Given the description of an element on the screen output the (x, y) to click on. 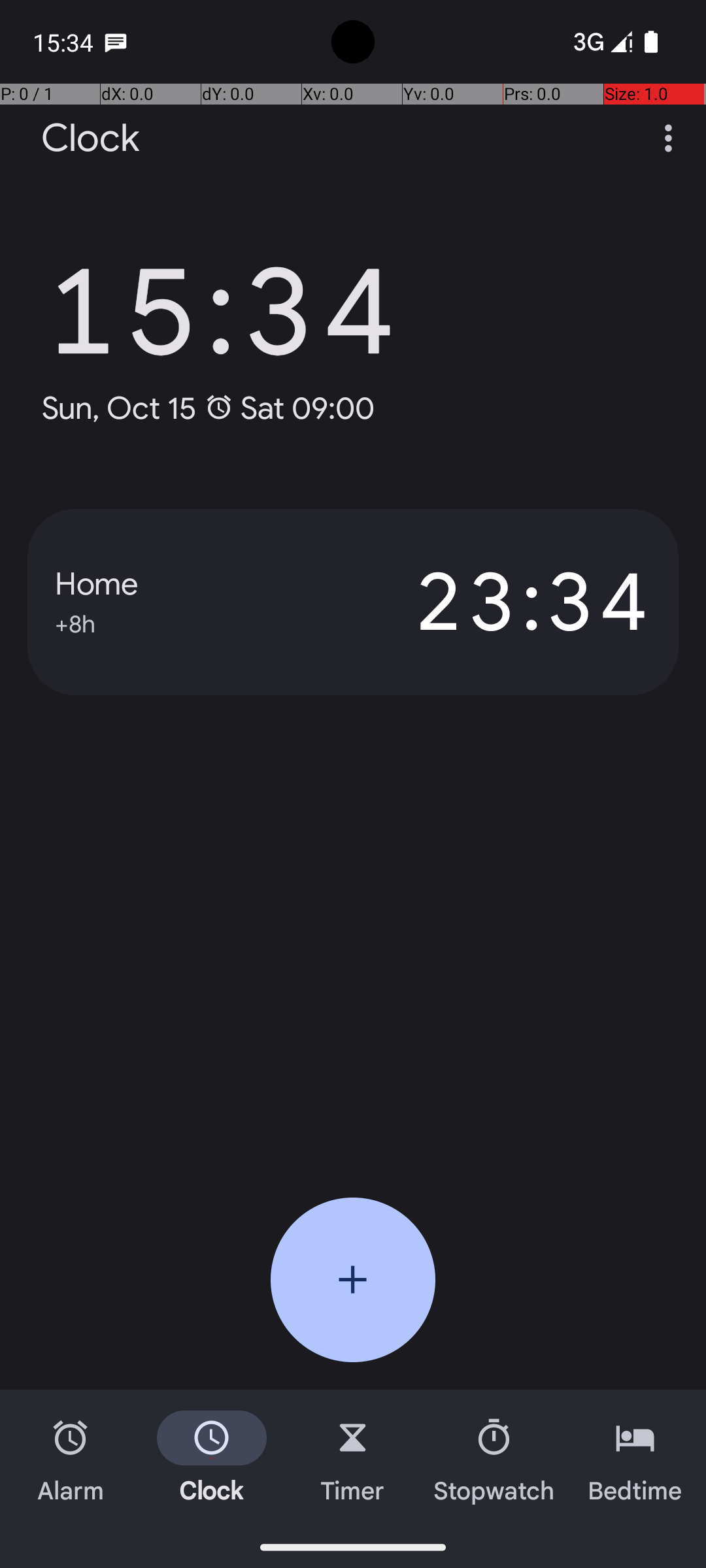
Sun, Oct 15 A Sat 09:00 Element type: android.widget.TextView (207, 407)
+8h Element type: android.widget.TextView (74, 621)
23:34 Element type: android.widget.TextView (502, 601)
SMS Messenger notification: Freya Hernandez Element type: android.widget.ImageView (115, 41)
